Given the description of an element on the screen output the (x, y) to click on. 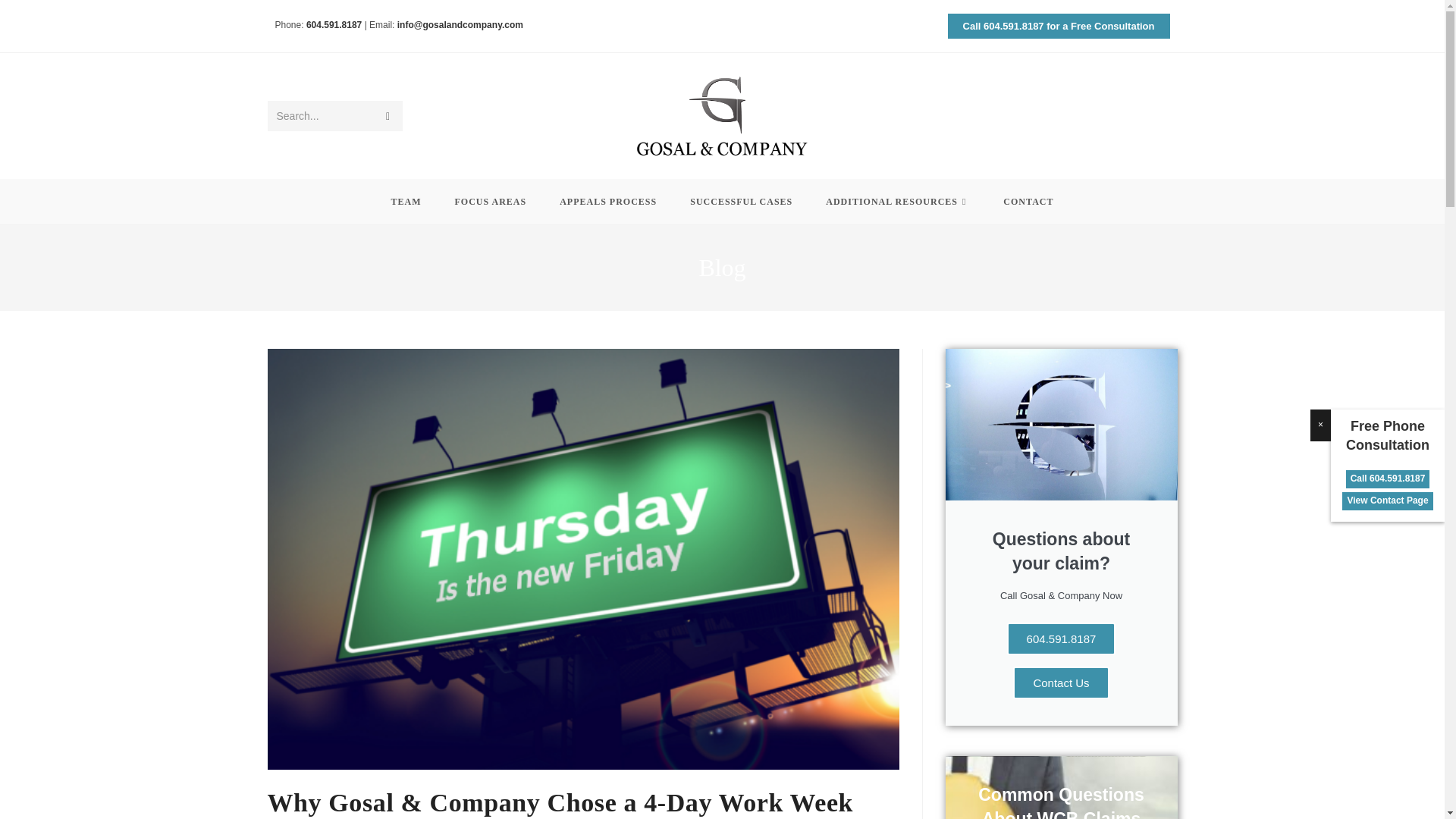
CONTACT (1028, 201)
APPEALS PROCESS (607, 201)
TEAM (406, 201)
ADDITIONAL RESOURCES (898, 201)
SUCCESSFUL CASES (740, 201)
FOCUS AREAS (490, 201)
Call 604.591.8187 for a Free Consultation (1058, 25)
604.591.8187  (335, 24)
